Given the description of an element on the screen output the (x, y) to click on. 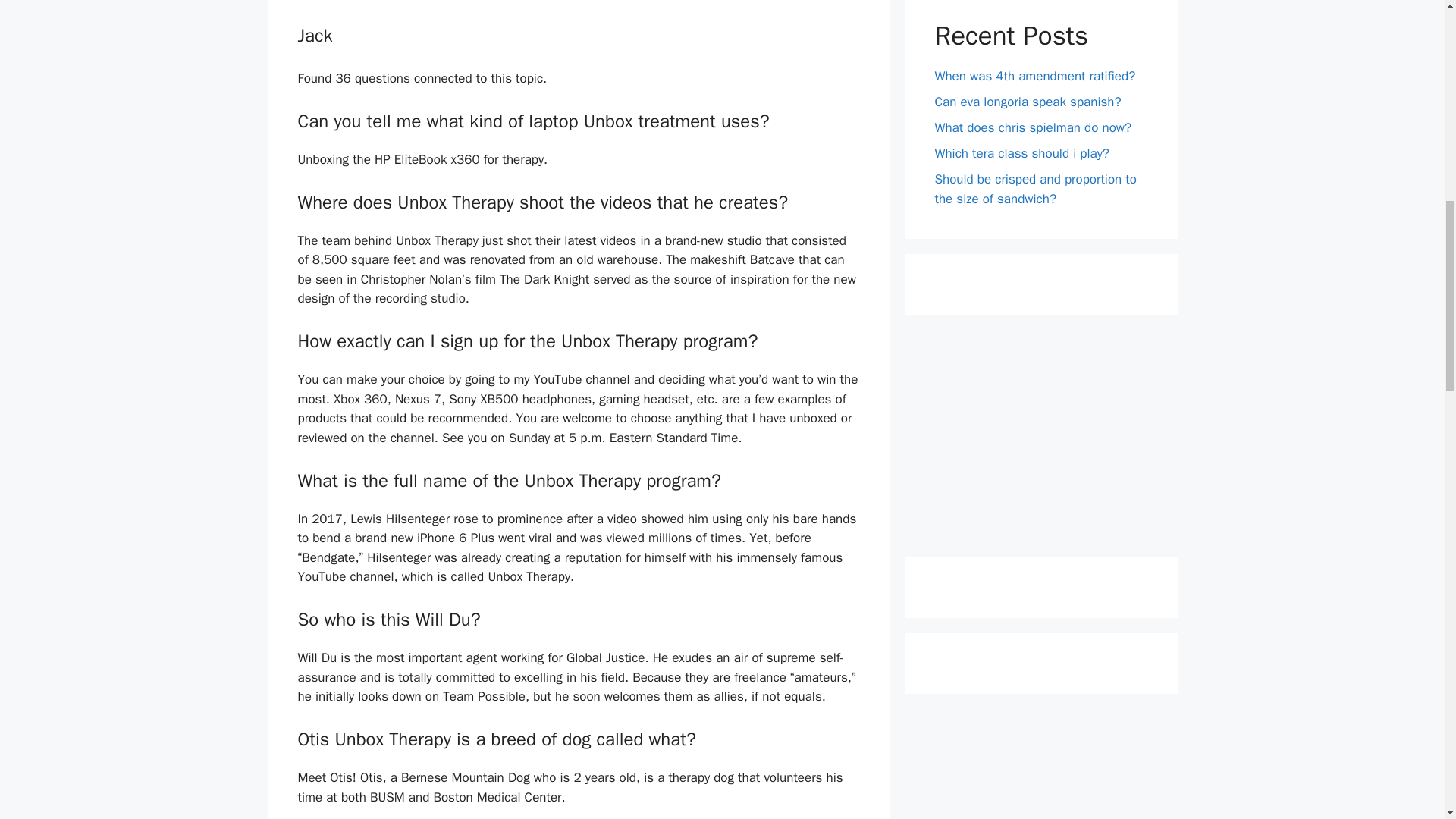
Can eva longoria speak spanish? (1027, 101)
Advertisement (1040, 436)
What does chris spielman do now? (1032, 127)
Which tera class should i play? (1021, 153)
When was 4th amendment ratified? (1034, 75)
Should be crisped and proportion to the size of sandwich? (1034, 189)
